Given the description of an element on the screen output the (x, y) to click on. 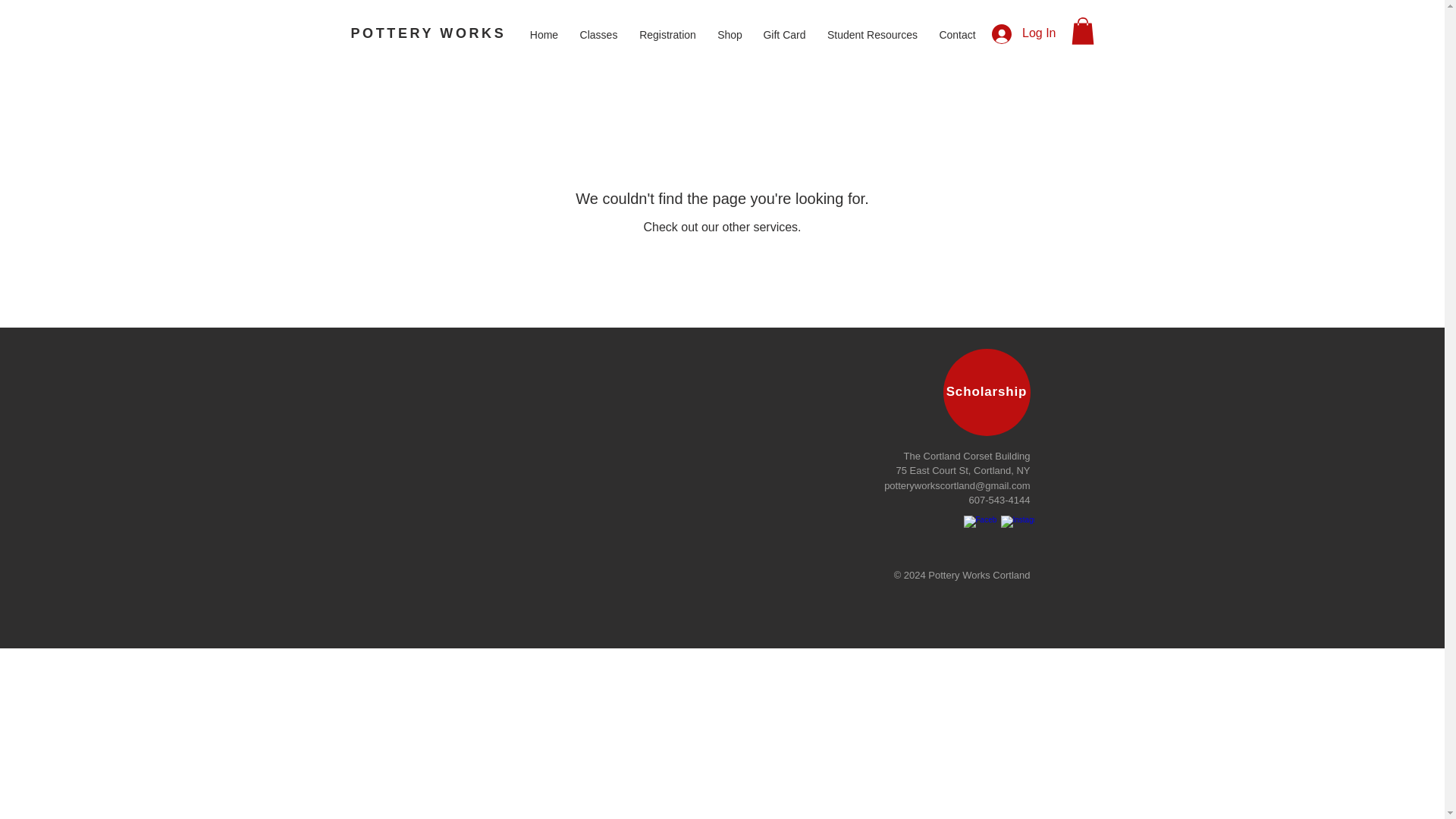
Shop (729, 28)
Classes (598, 28)
Contact (956, 28)
Home (543, 28)
Student Resources (871, 28)
Gift Card (783, 28)
Scholarship (986, 391)
Registration (666, 28)
Log In (1023, 33)
